Given the description of an element on the screen output the (x, y) to click on. 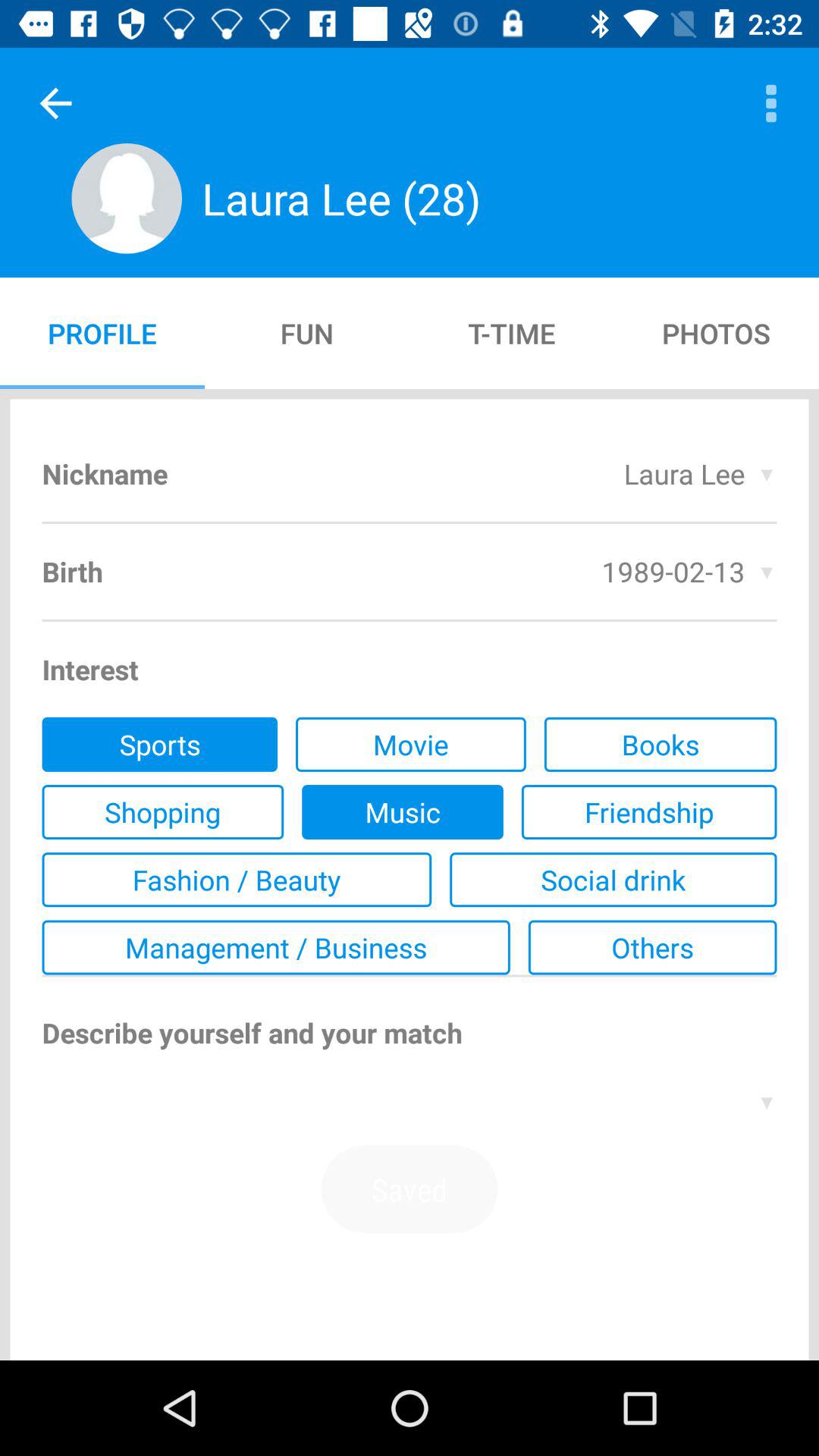
choose the item next to the laura lee (28) (55, 103)
